Given the description of an element on the screen output the (x, y) to click on. 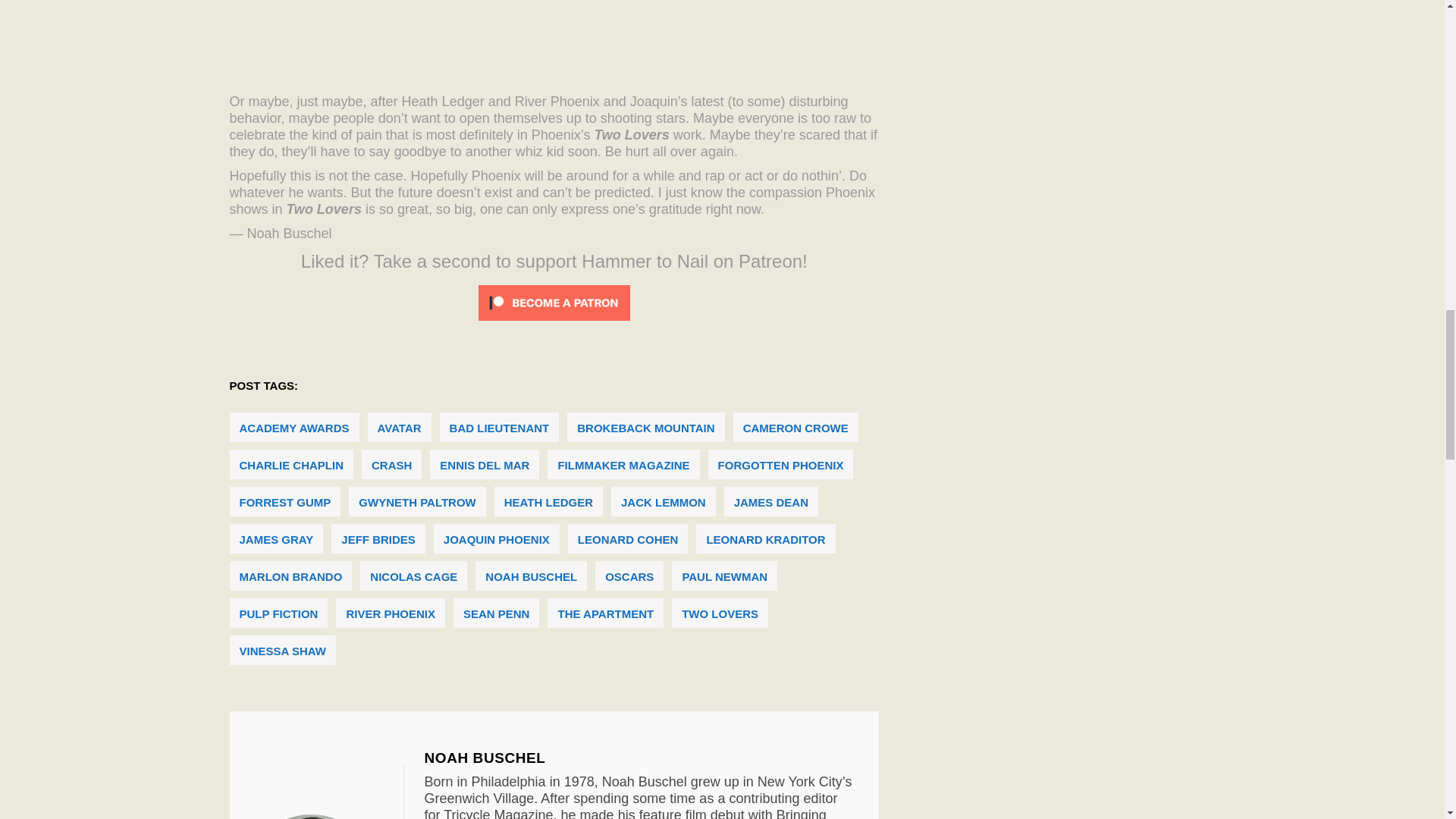
FORGOTTEN PHOENIX by Noah Buschel (323, 816)
FORGOTTEN PHOENIX by Noah Buschel (485, 757)
